Given the description of an element on the screen output the (x, y) to click on. 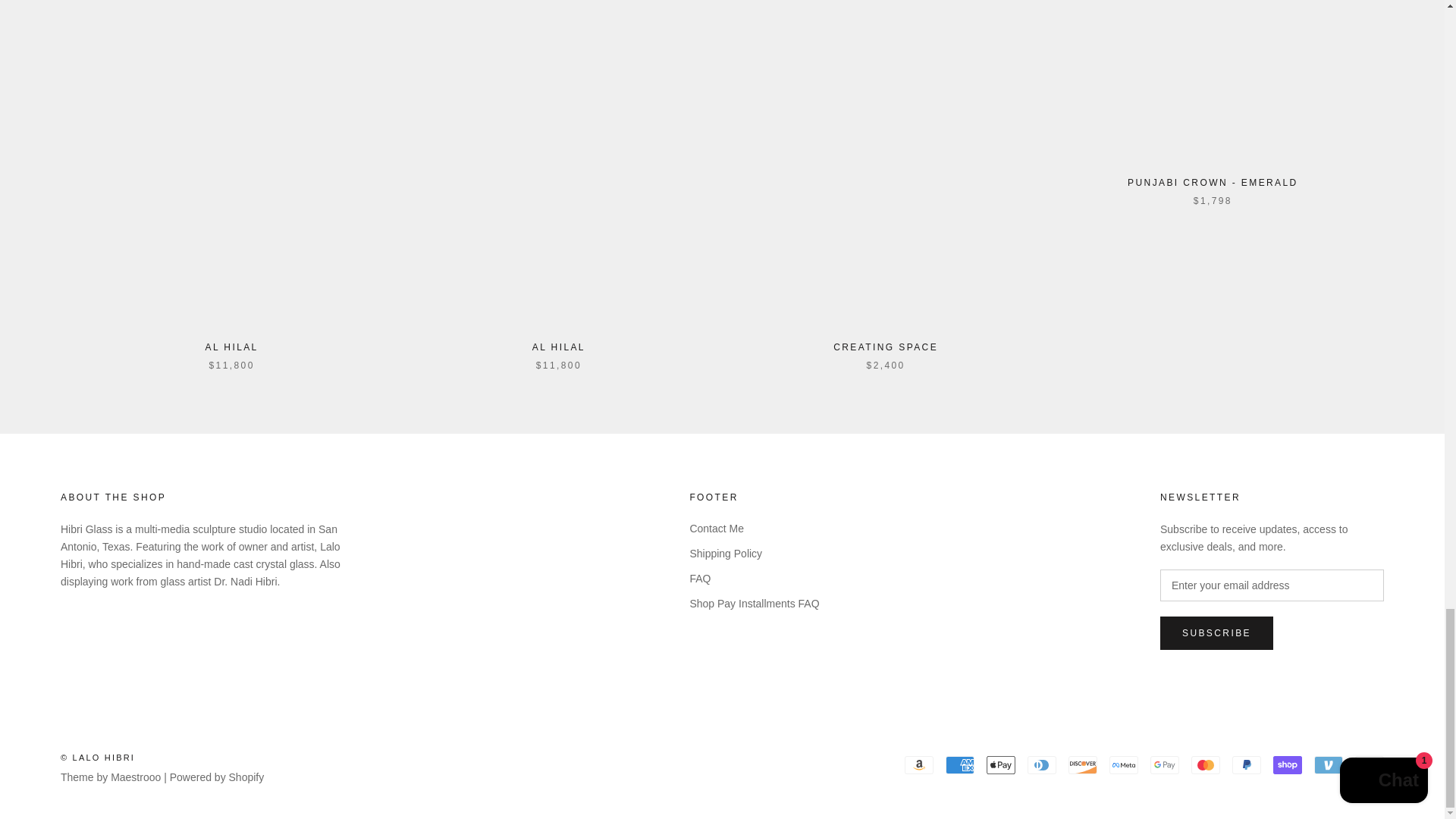
Shop Pay (1286, 764)
Venmo (1328, 764)
Visa (1369, 764)
Meta Pay (1123, 764)
Amazon (918, 764)
American Express (959, 764)
Diners Club (1042, 764)
Mastercard (1205, 764)
Google Pay (1164, 764)
PayPal (1245, 764)
Apple Pay (1000, 764)
Discover (1082, 764)
